Given the description of an element on the screen output the (x, y) to click on. 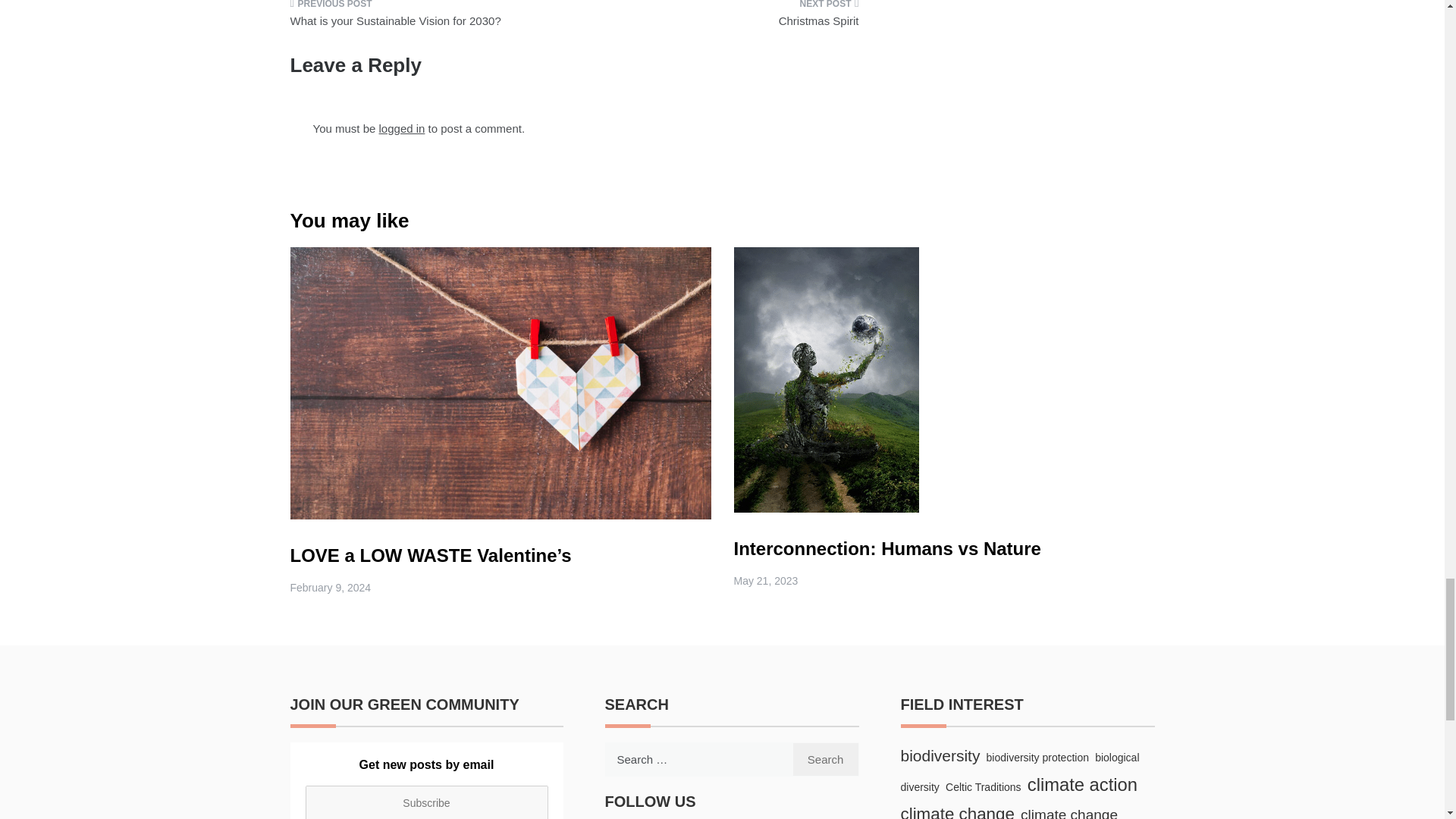
logged in (401, 128)
Search (825, 759)
Christmas Spirit (722, 19)
Search (825, 759)
What is your Sustainable Vision for 2030? (425, 19)
